Given the description of an element on the screen output the (x, y) to click on. 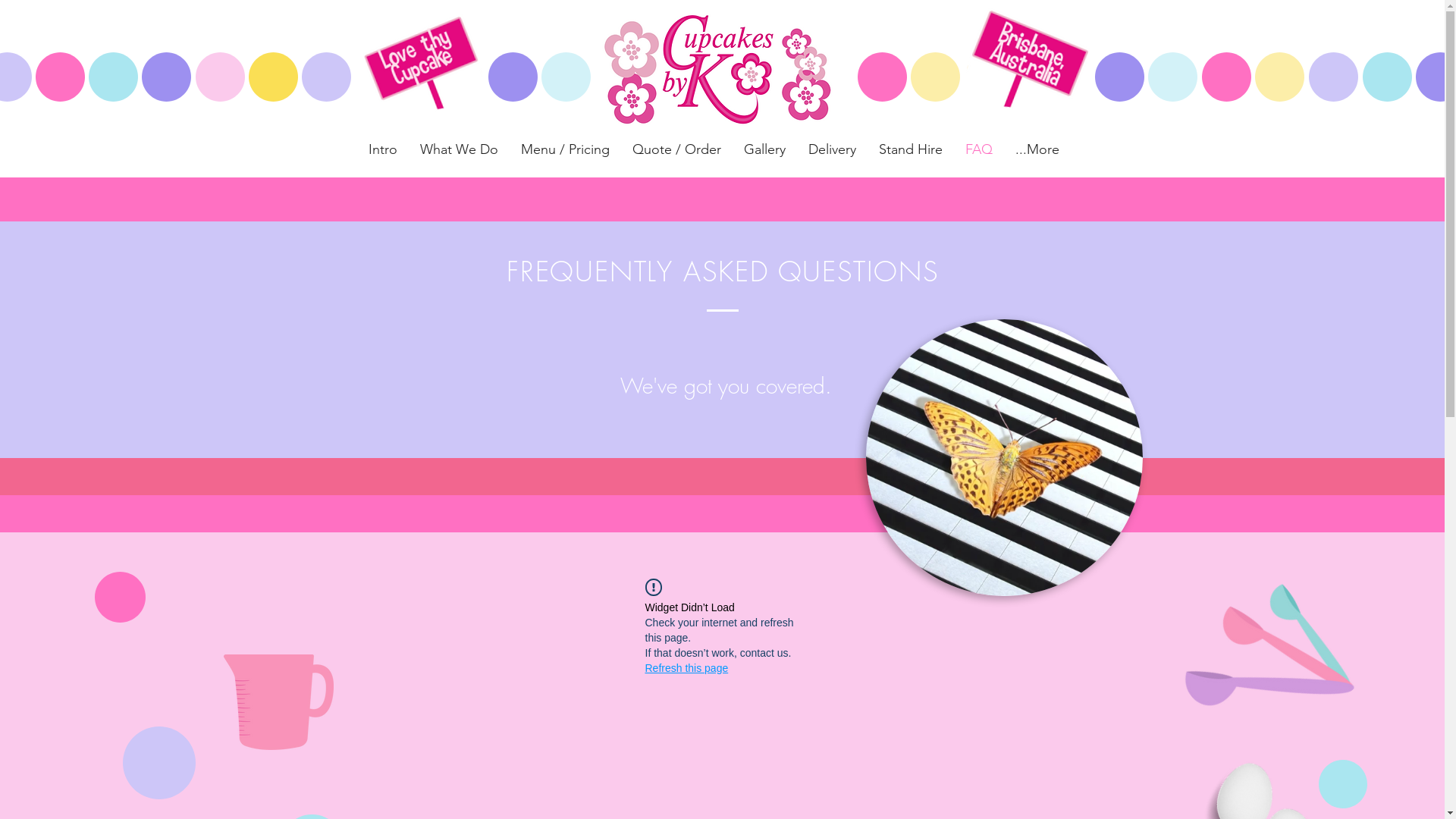
Gallery Element type: text (764, 149)
Quote / Order Element type: text (675, 149)
Refresh this page Element type: text (686, 667)
Delivery Element type: text (831, 149)
Menu / Pricing Element type: text (565, 149)
Intro Element type: text (381, 149)
Stand Hire Element type: text (910, 149)
FAQ Element type: text (978, 149)
What We Do Element type: text (457, 149)
